Given the description of an element on the screen output the (x, y) to click on. 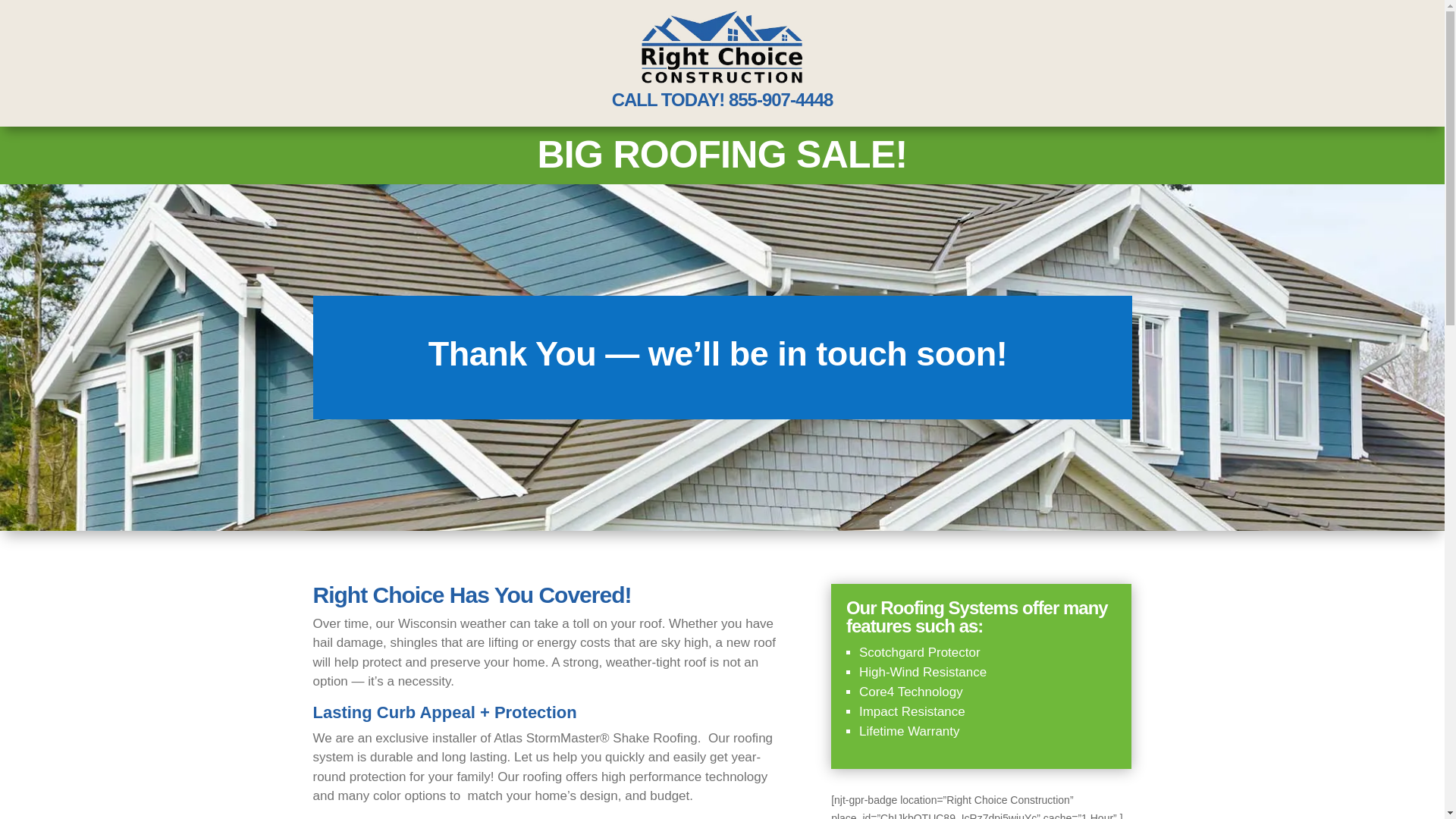
CALL TODAY! 855-907-4448 (721, 99)
